Given the description of an element on the screen output the (x, y) to click on. 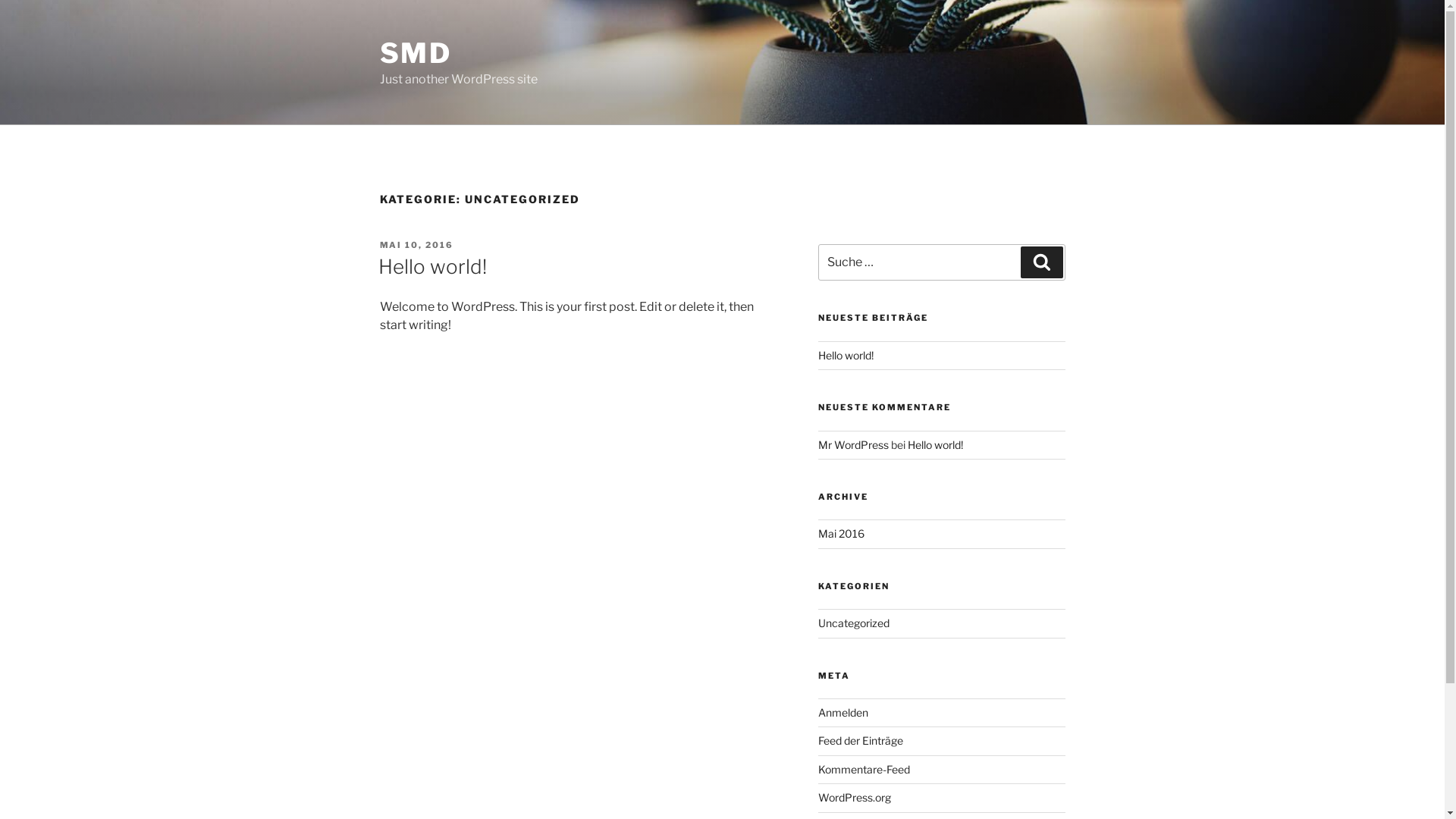
Kommentare-Feed Element type: text (864, 768)
MAI 10, 2016 Element type: text (416, 244)
Uncategorized Element type: text (853, 622)
Anmelden Element type: text (843, 712)
Hello world! Element type: text (431, 266)
Hello world! Element type: text (845, 354)
Mai 2016 Element type: text (841, 533)
Hello world! Element type: text (935, 444)
Mr WordPress Element type: text (853, 444)
SMD Element type: text (415, 52)
Suchen Element type: text (1041, 262)
WordPress.org Element type: text (854, 796)
